Given the description of an element on the screen output the (x, y) to click on. 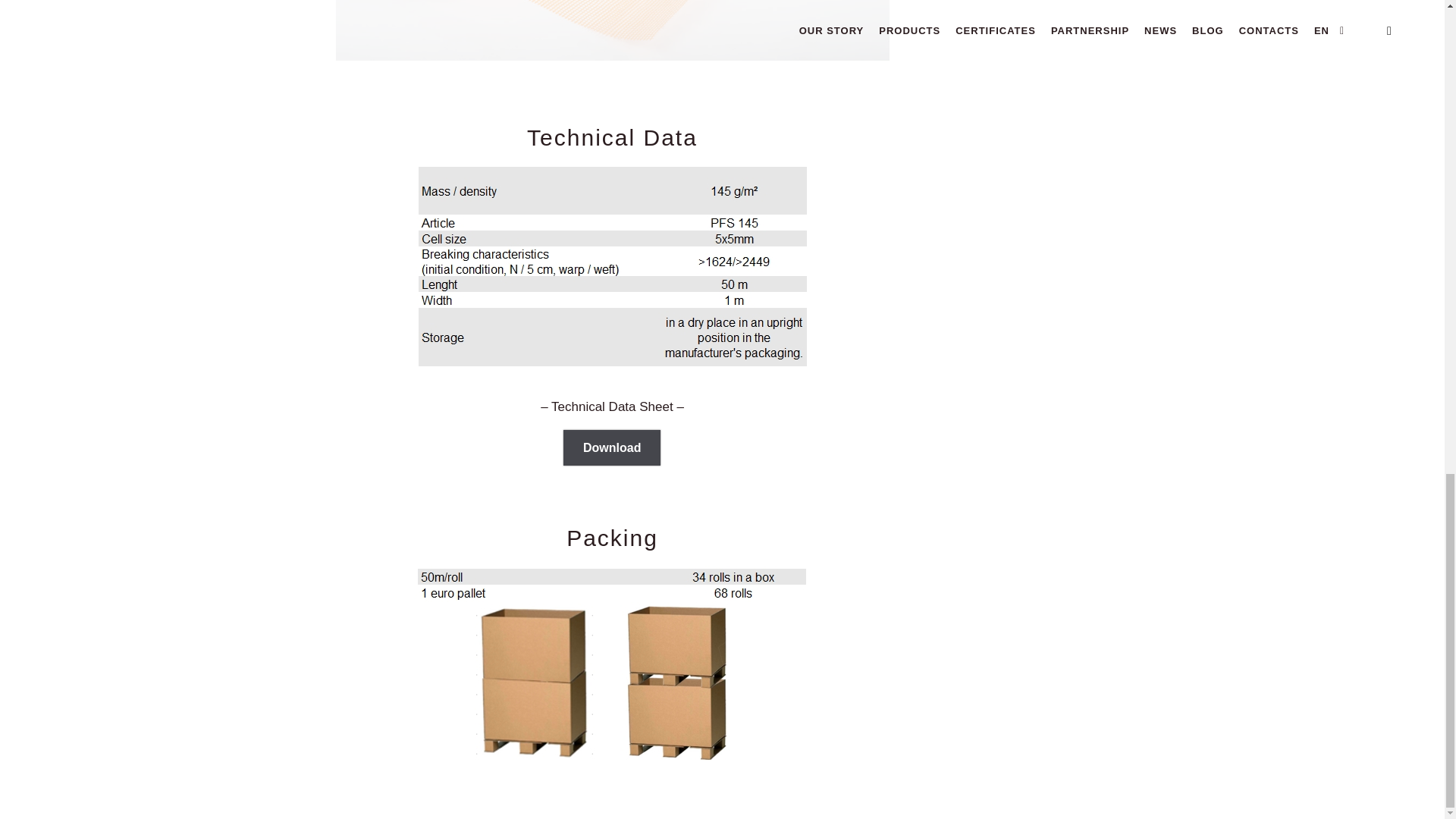
Download (612, 447)
